Given the description of an element on the screen output the (x, y) to click on. 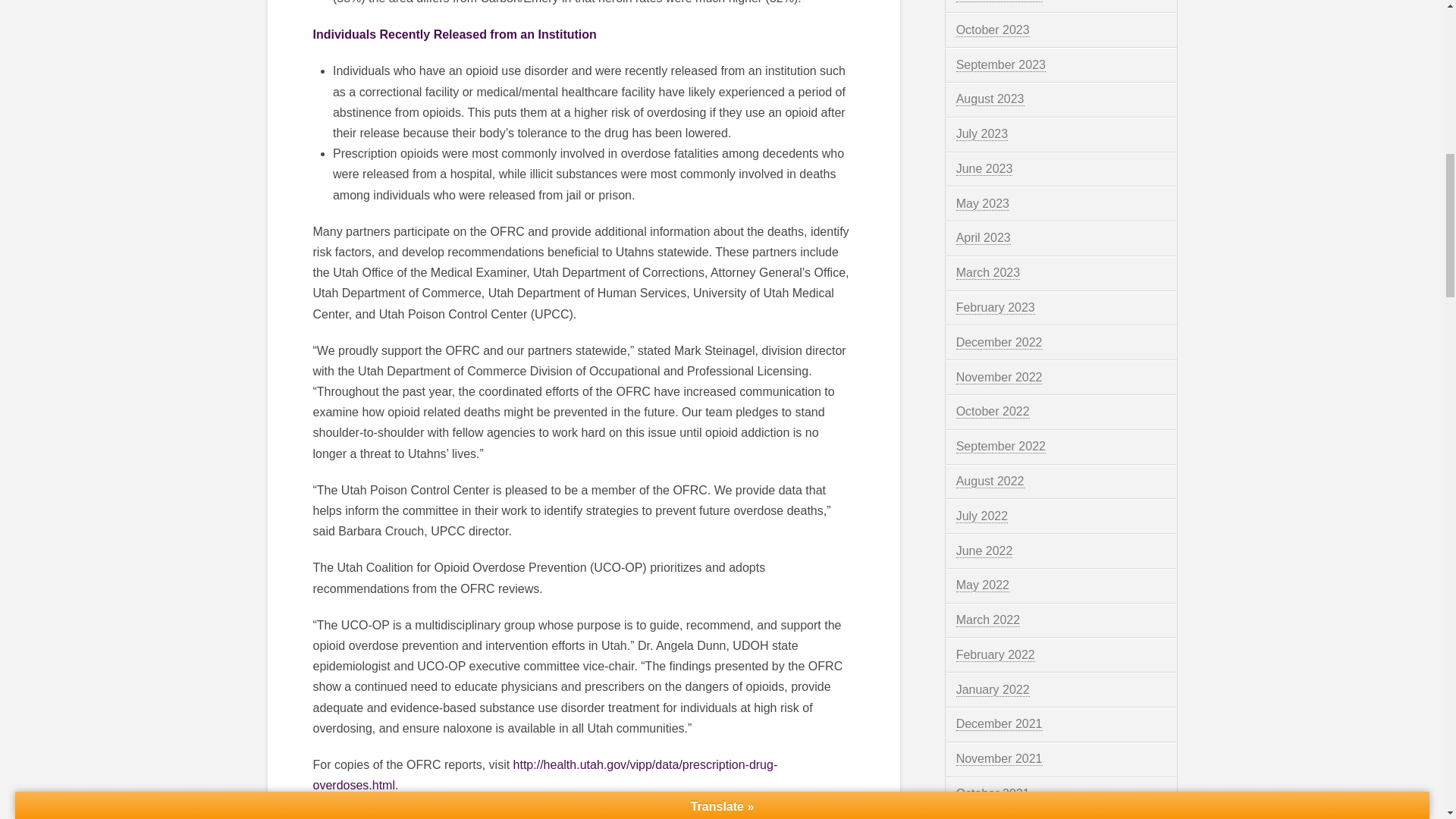
November 2022 (999, 377)
January 2022 (992, 689)
December 2022 (999, 342)
September 2023 (1000, 65)
April 2023 (983, 237)
July 2023 (982, 133)
June 2023 (984, 169)
November 2023 (999, 1)
July 2022 (982, 516)
October 2023 (992, 29)
